Given the description of an element on the screen output the (x, y) to click on. 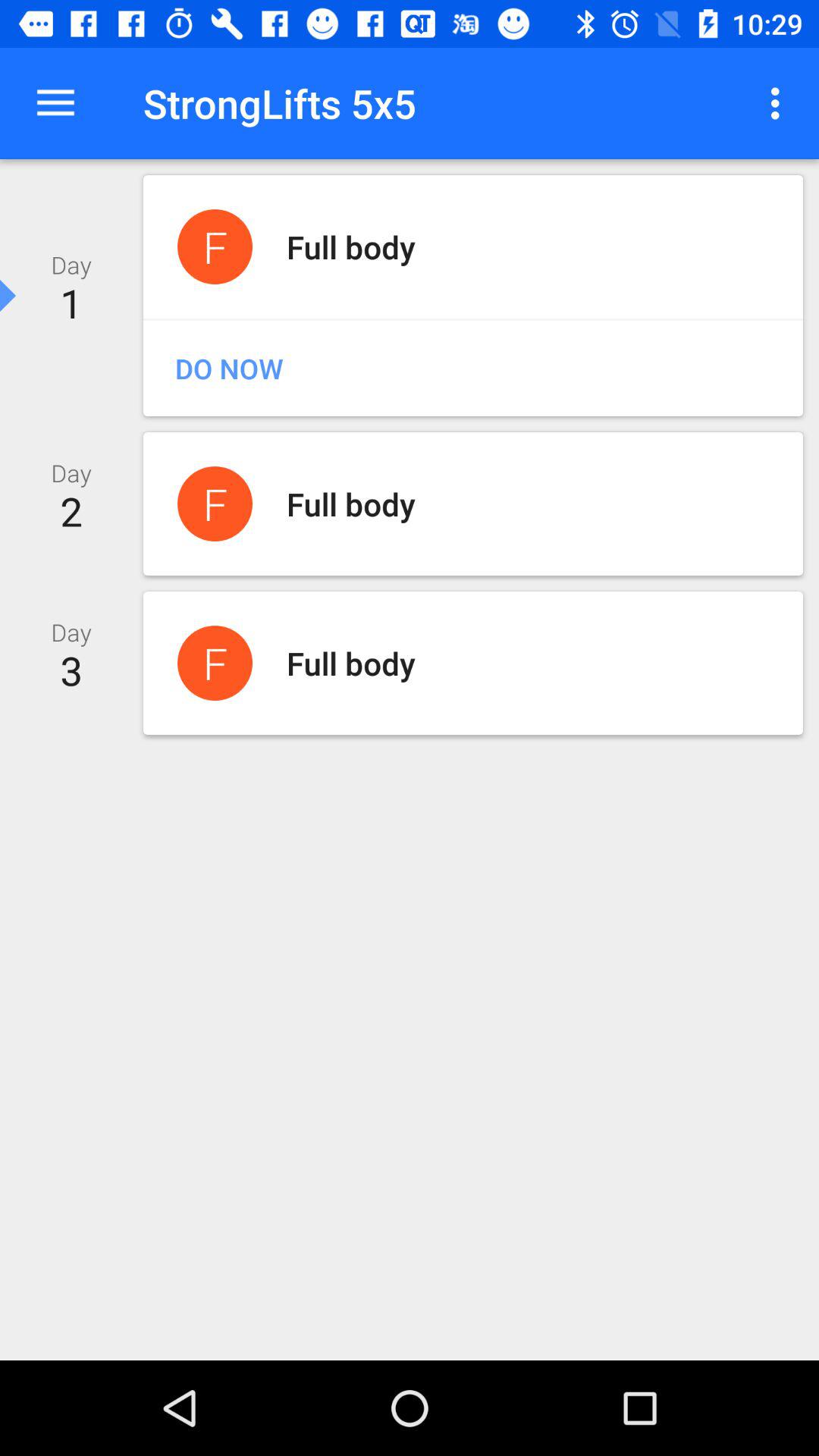
select icon next to the stronglifts 5x5 item (55, 103)
